Given the description of an element on the screen output the (x, y) to click on. 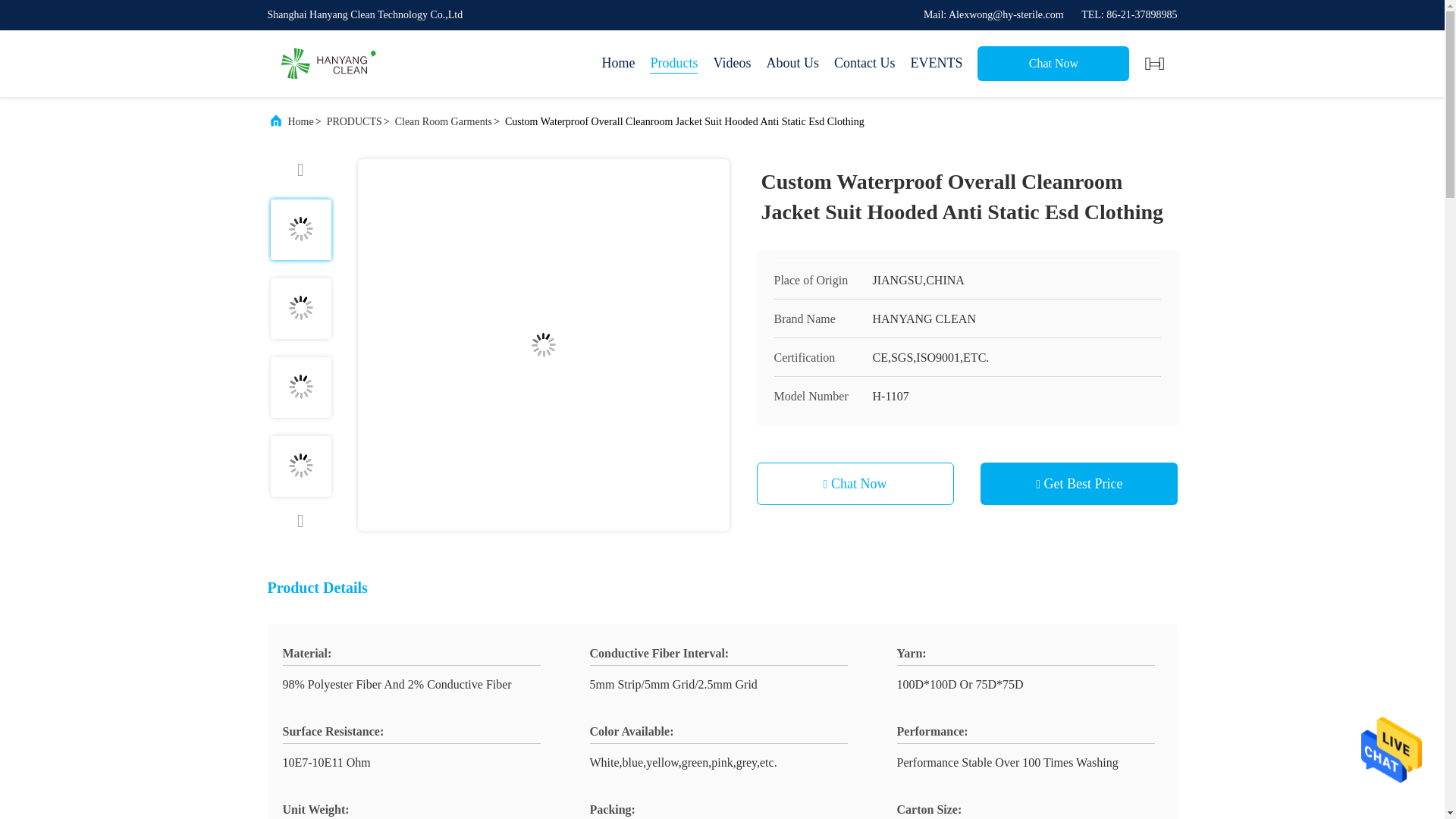
Chat Now (1052, 63)
Home (617, 63)
email (993, 14)
Home (617, 63)
About Us (791, 63)
About Us (791, 63)
Contact Us (864, 63)
Home (327, 63)
EVENTS (936, 63)
Products (673, 63)
Products (673, 63)
Videos (732, 63)
Videos (732, 63)
